Given the description of an element on the screen output the (x, y) to click on. 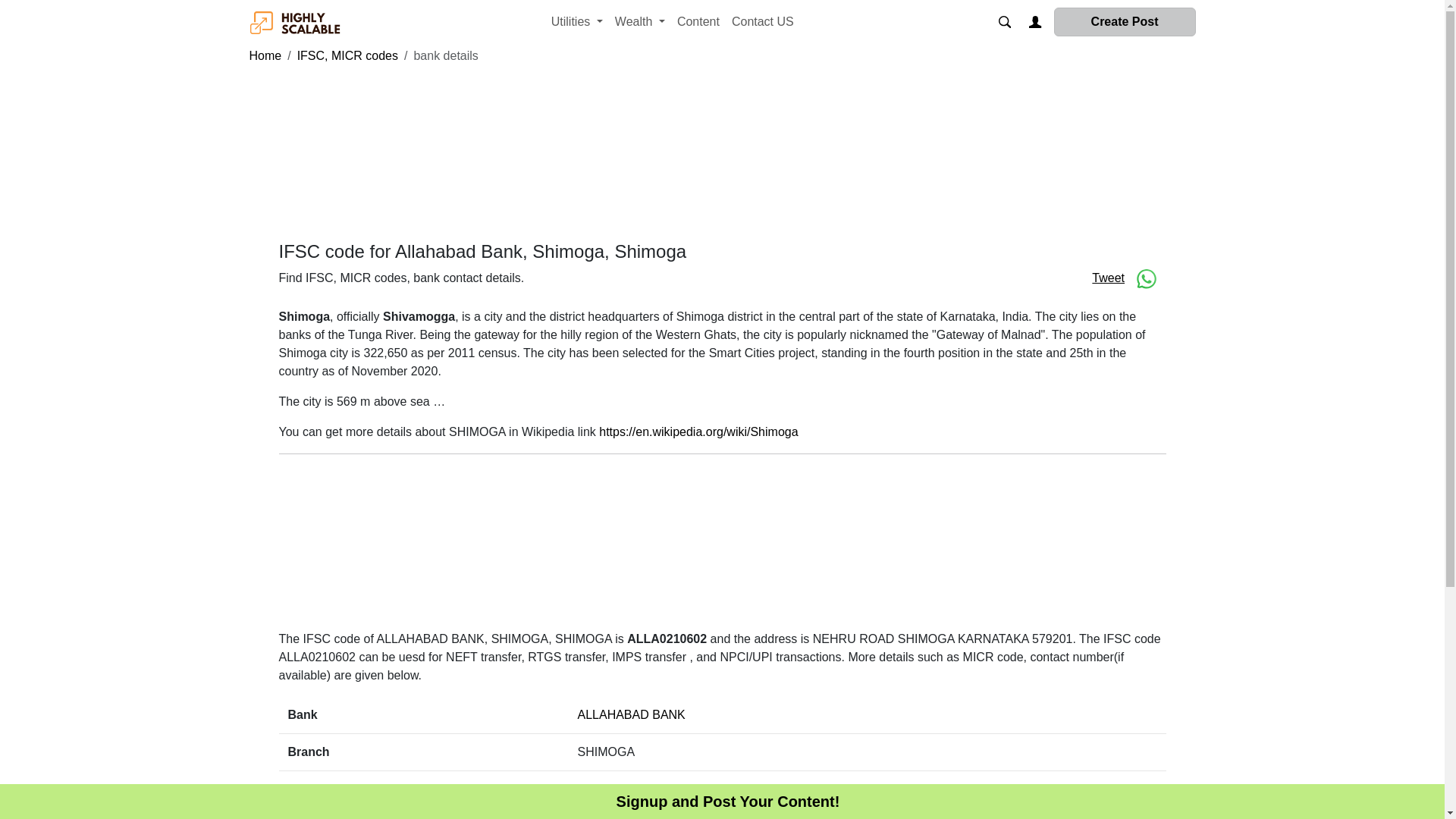
Signup and Post Your Content! (727, 801)
Contact US (762, 21)
Utilities (576, 21)
Create Post (1124, 21)
Home (264, 55)
Wealth (639, 21)
IFSC, MICR codes (347, 55)
Sticky footer container (727, 801)
ALLAHABAD BANK (631, 714)
Content (698, 21)
Tweet (1108, 277)
